Given the description of an element on the screen output the (x, y) to click on. 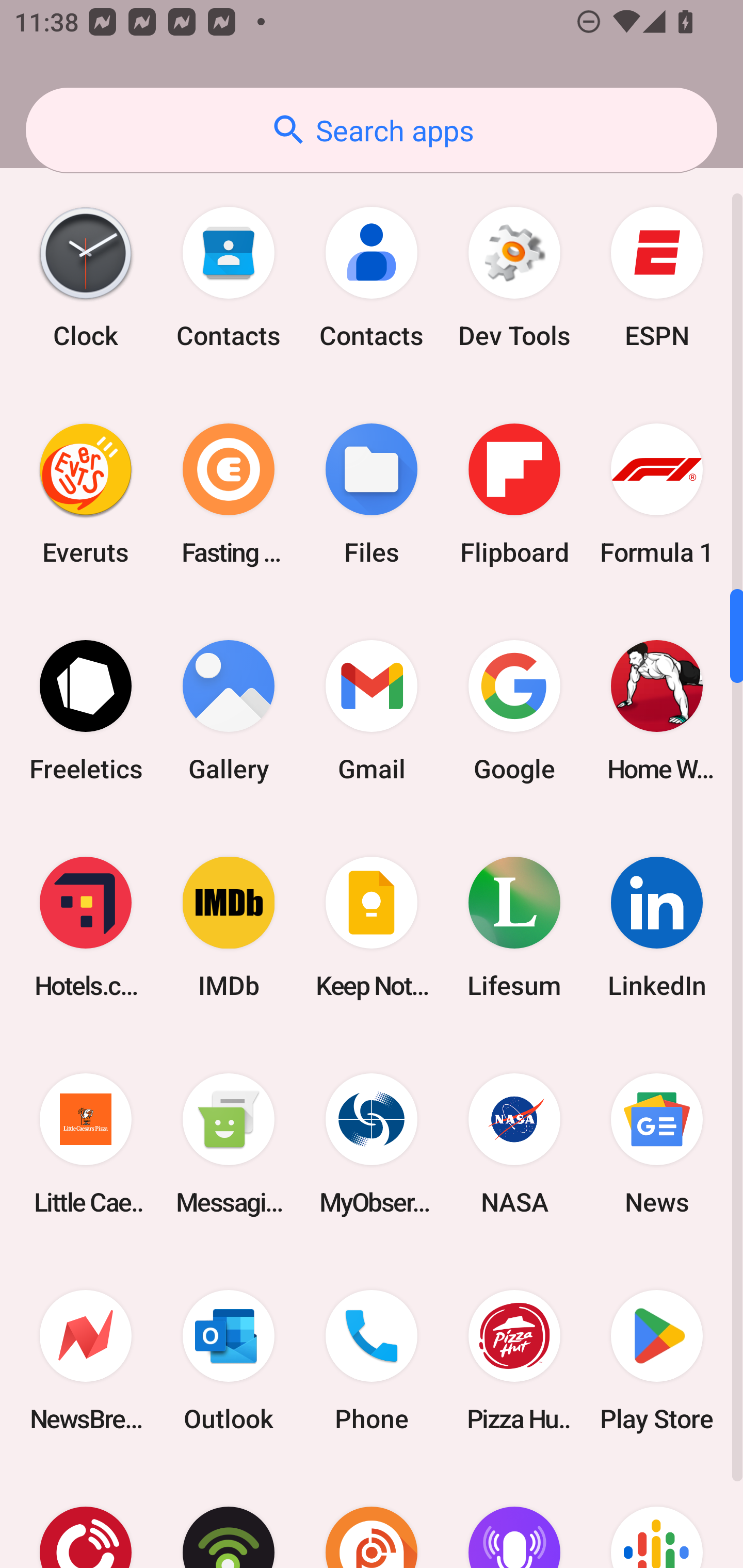
  Search apps (371, 130)
Clock (85, 277)
Contacts (228, 277)
Contacts (371, 277)
Dev Tools (514, 277)
ESPN (656, 277)
Everuts (85, 493)
Fasting Coach (228, 493)
Files (371, 493)
Flipboard (514, 493)
Formula 1 (656, 493)
Freeletics (85, 710)
Gallery (228, 710)
Gmail (371, 710)
Google (514, 710)
Home Workout (656, 710)
Hotels.com (85, 927)
IMDb (228, 927)
Keep Notes (371, 927)
Lifesum (514, 927)
LinkedIn (656, 927)
Little Caesars Pizza (85, 1144)
Messaging (228, 1144)
MyObservatory (371, 1144)
NASA (514, 1144)
News (656, 1144)
NewsBreak (85, 1360)
Outlook (228, 1360)
Phone (371, 1360)
Pizza Hut HK & Macau (514, 1360)
Play Store (656, 1360)
Player FM (85, 1518)
Podbean (228, 1518)
Podcast Addict (371, 1518)
Podcast Player (514, 1518)
Podcasts (656, 1518)
